Given the description of an element on the screen output the (x, y) to click on. 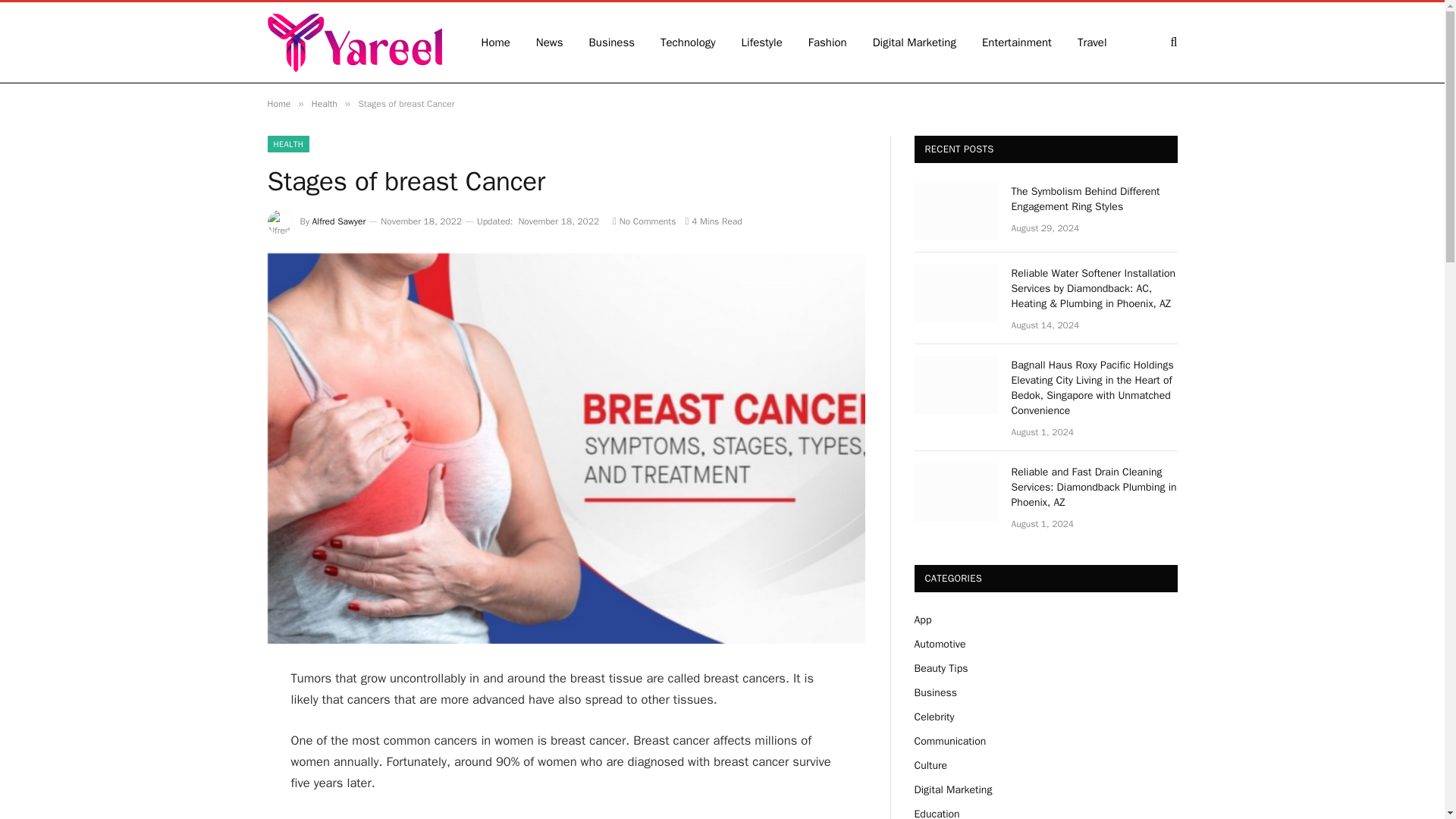
No Comments (643, 221)
The Symbolism Behind Different Engagement Ring Styles (955, 211)
Home (277, 103)
The Symbolism Behind Different Engagement Ring Styles (1094, 199)
Health (324, 103)
Posts by Alfred Sawyer (339, 221)
Yareel.co (353, 41)
Technology (688, 42)
Entertainment (1016, 42)
